Given the description of an element on the screen output the (x, y) to click on. 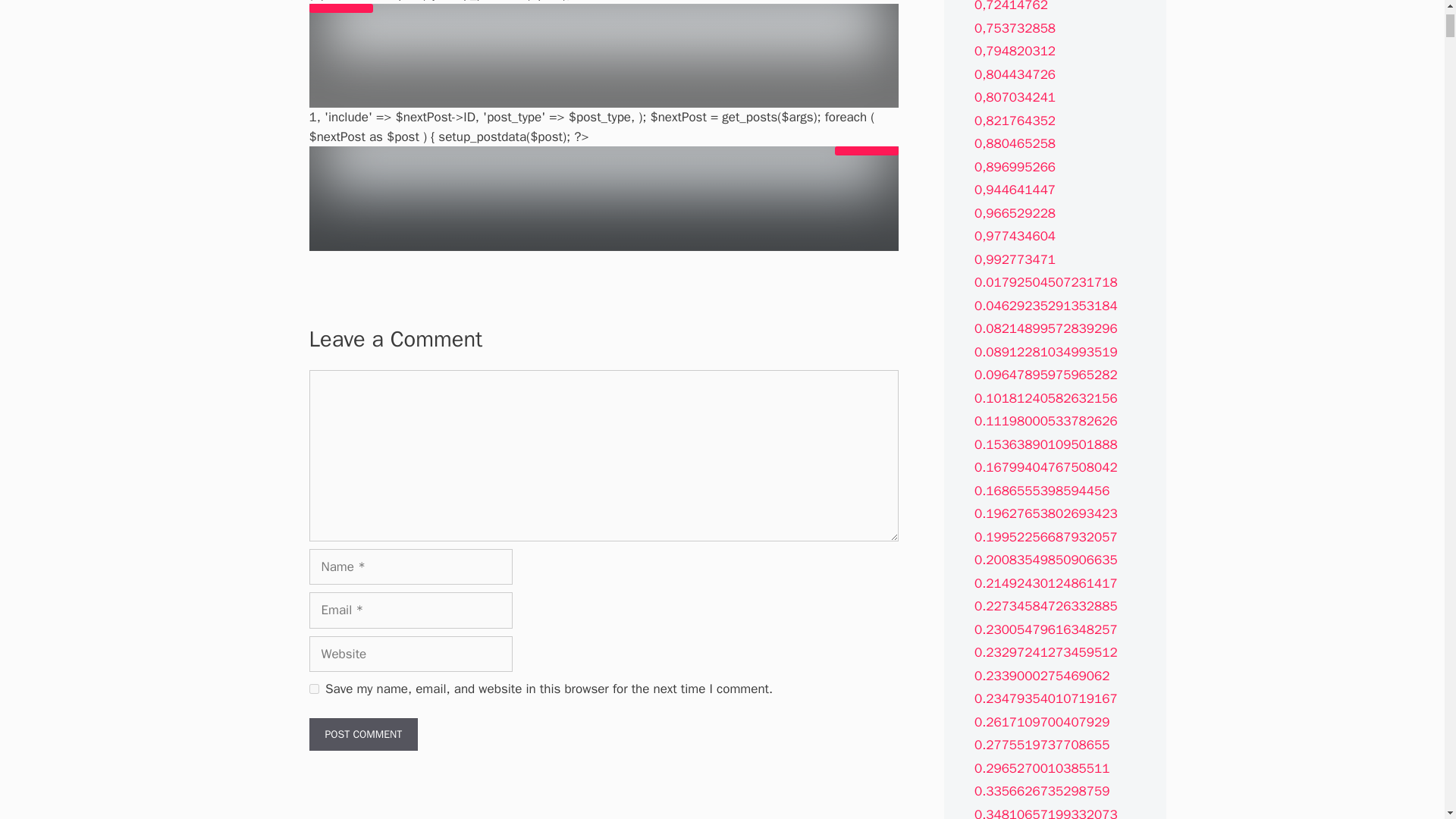
Post Comment (363, 734)
yes (313, 688)
Post Comment (363, 734)
